Given the description of an element on the screen output the (x, y) to click on. 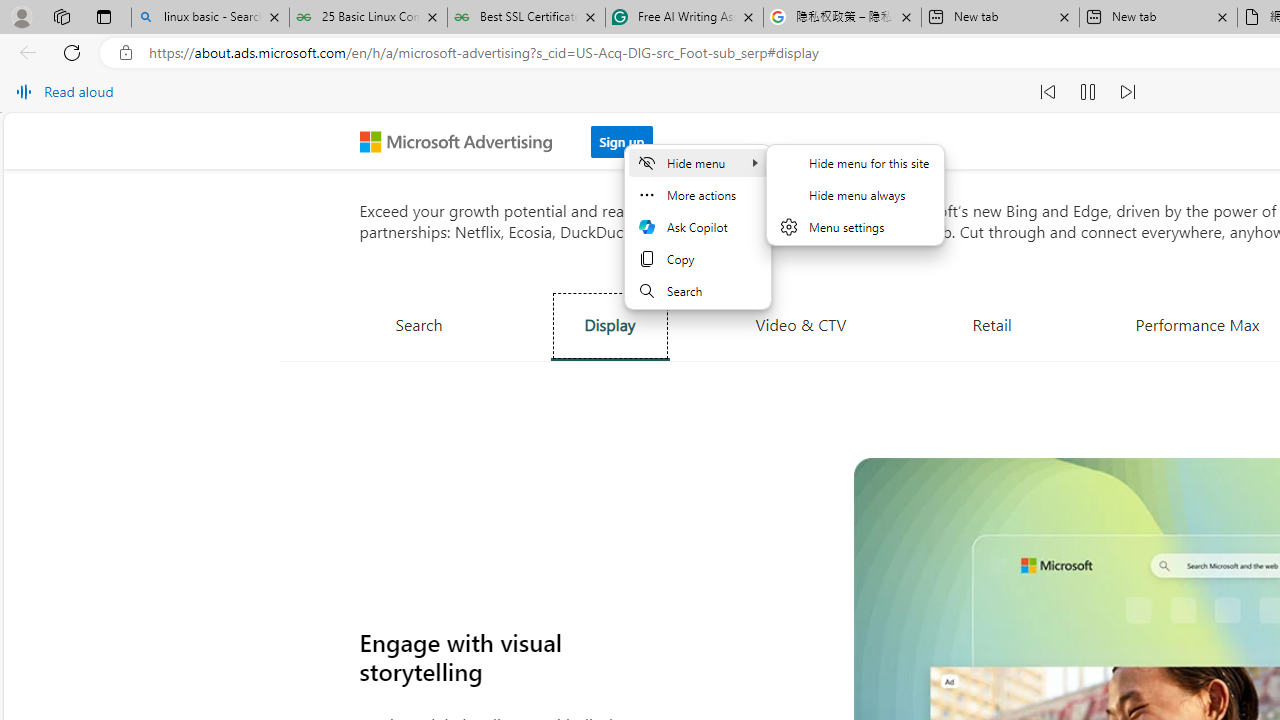
Video & CTV (801, 324)
linux basic - Search (210, 17)
Best SSL Certificates Provider in India - GeeksforGeeks (526, 17)
Retail (991, 324)
Sign up (622, 141)
Menu settings (855, 226)
Hide menu (697, 162)
Free AI Writing Assistance for Students | Grammarly (683, 17)
Hide menu for this site (855, 162)
Mini menu on text selection (697, 226)
Read next paragraph (1128, 92)
